Given the description of an element on the screen output the (x, y) to click on. 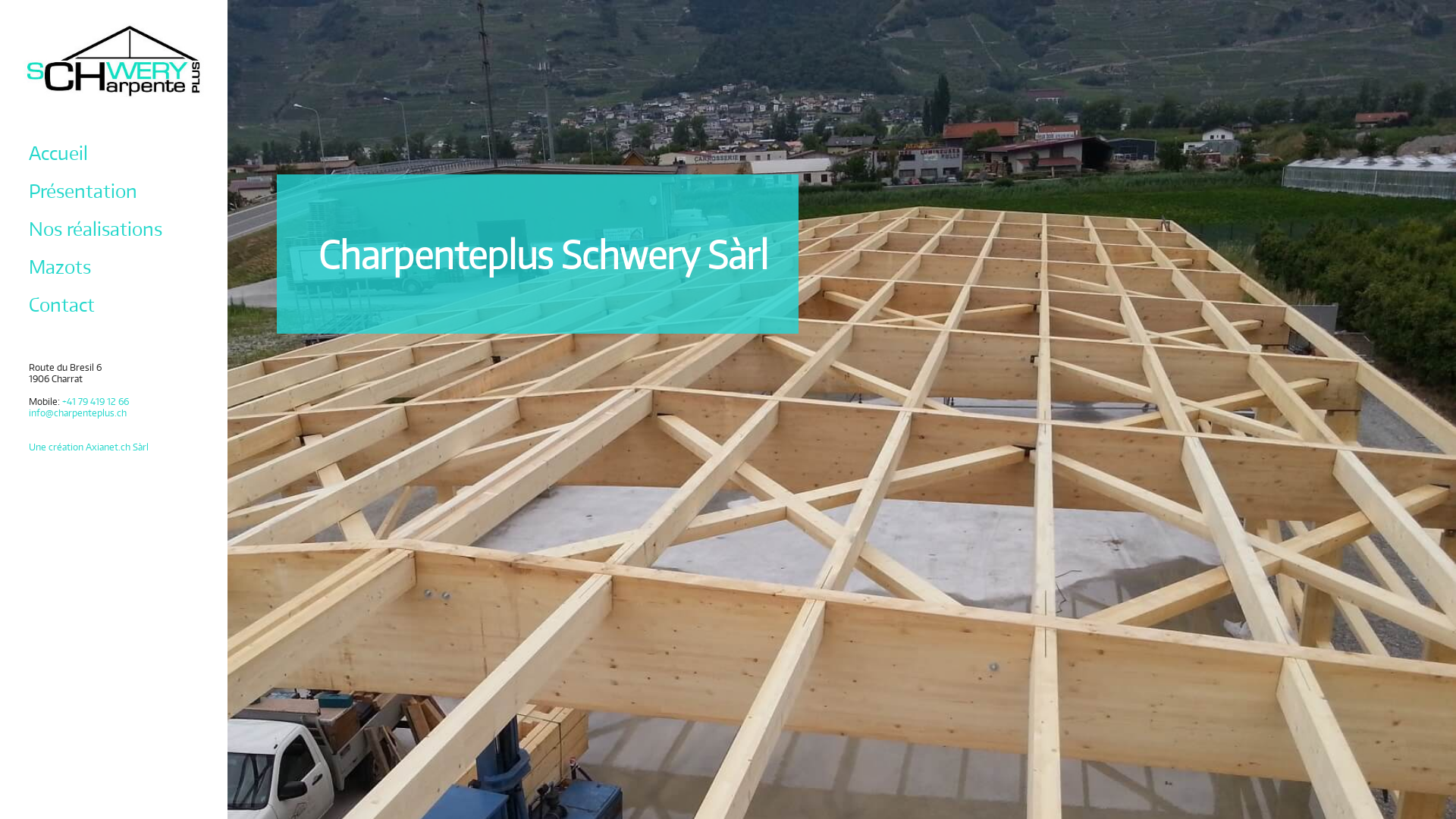
+41 79 419 12 66 Element type: text (95, 401)
info@charpenteplus.ch Element type: text (77, 412)
Mazots Element type: text (59, 266)
Contact Element type: text (61, 304)
Accueil Element type: text (57, 152)
